Given the description of an element on the screen output the (x, y) to click on. 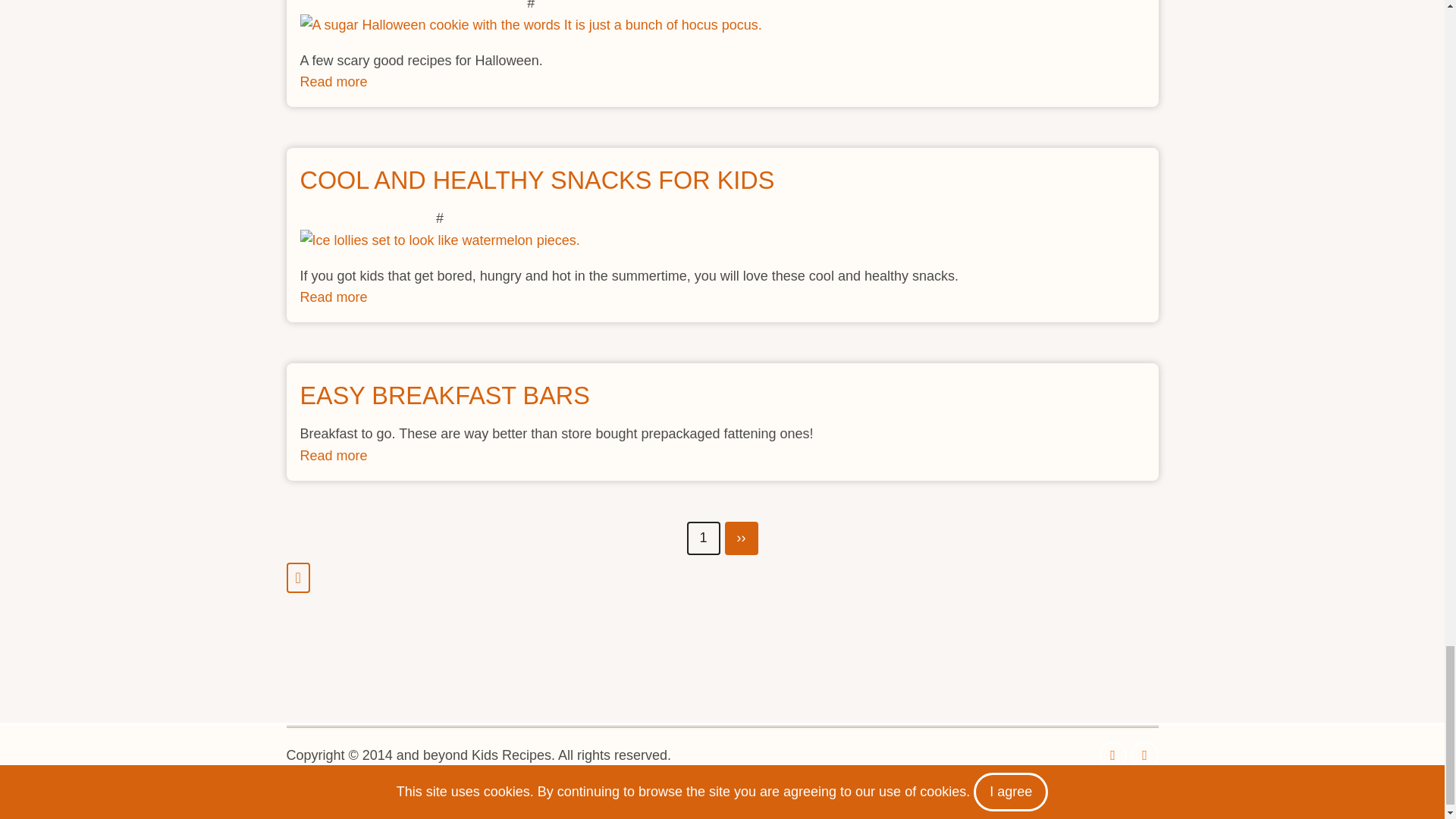
sugar cookie (530, 25)
watermelon like ice lollies (439, 240)
EASY BREAKFAST BARS (444, 395)
COOL AND HEALTHY SNACKS FOR KIDS (333, 81)
Hocus pocus snacks (536, 180)
Subscribe to snacks (333, 455)
